Given the description of an element on the screen output the (x, y) to click on. 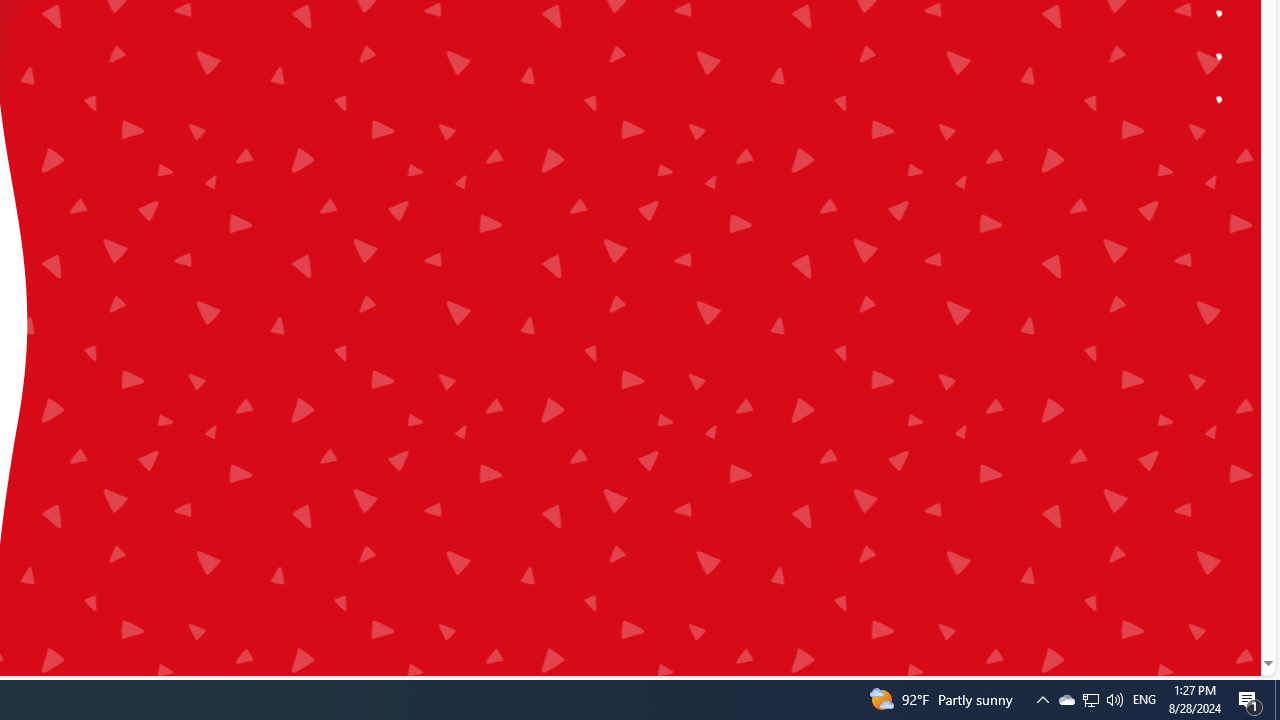
Download the free YouTube Kids app. (1219, 99)
02 Toys & Play (391, 179)
Class: ytk__arrow-link-icon (327, 192)
03 Learning & Hobbies (391, 220)
